Given the description of an element on the screen output the (x, y) to click on. 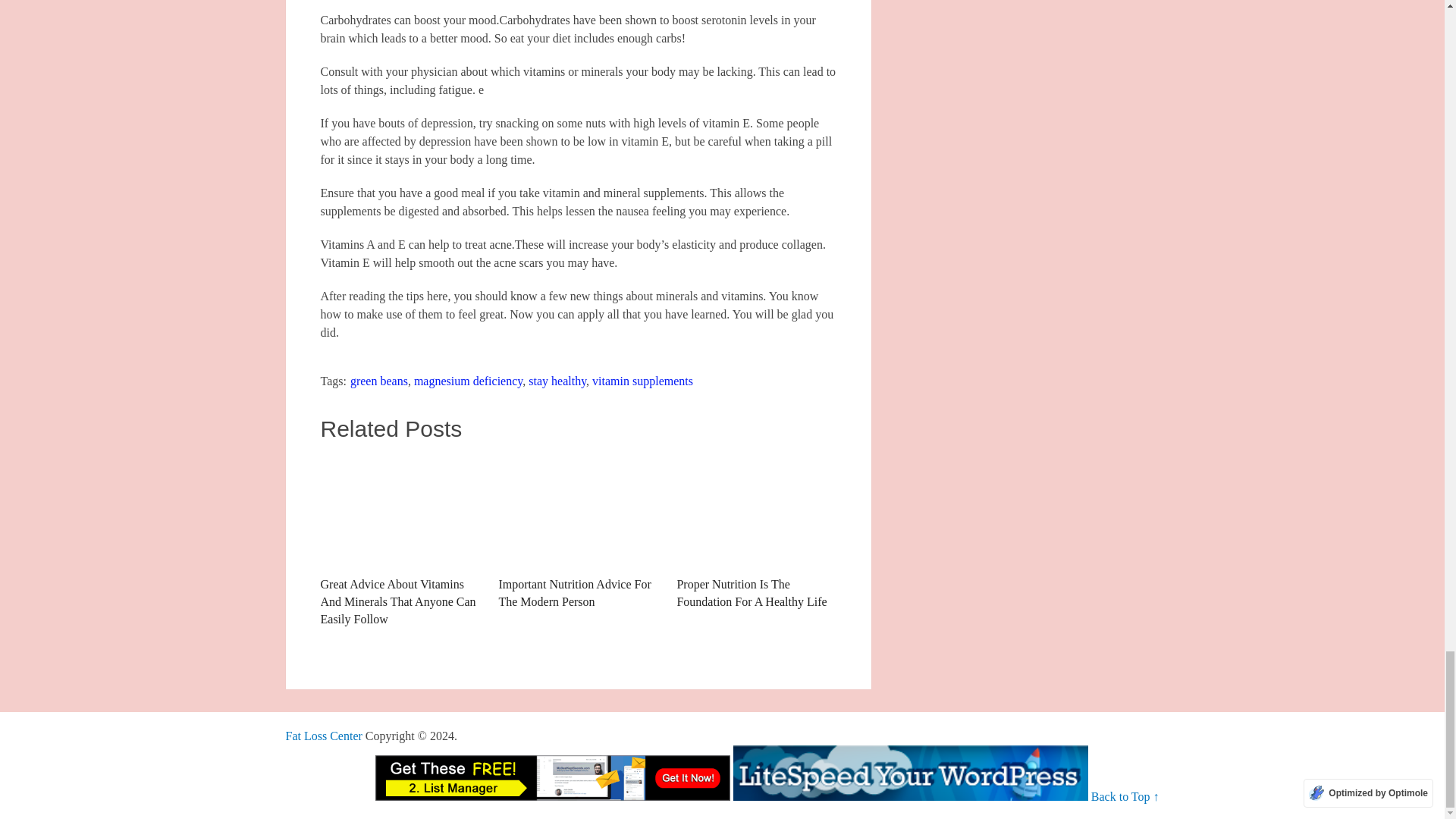
green beans (378, 380)
Proper Nutrition Is The Foundation For A Healthy Life (756, 532)
vitamin supplements (642, 380)
Fat Loss Center (323, 735)
Proper Nutrition Is The Foundation For A Healthy Life (756, 532)
Important Nutrition Advice For The Modern Person (577, 532)
Important Nutrition Advice For The Modern Person (577, 511)
Important Nutrition Advice For The Modern Person (577, 532)
You may find help in The Fat Loss Center. (323, 735)
magnesium deficiency (467, 380)
stay healthy (557, 380)
Proper Nutrition Is The Foundation For A Healthy Life (756, 511)
